Given the description of an element on the screen output the (x, y) to click on. 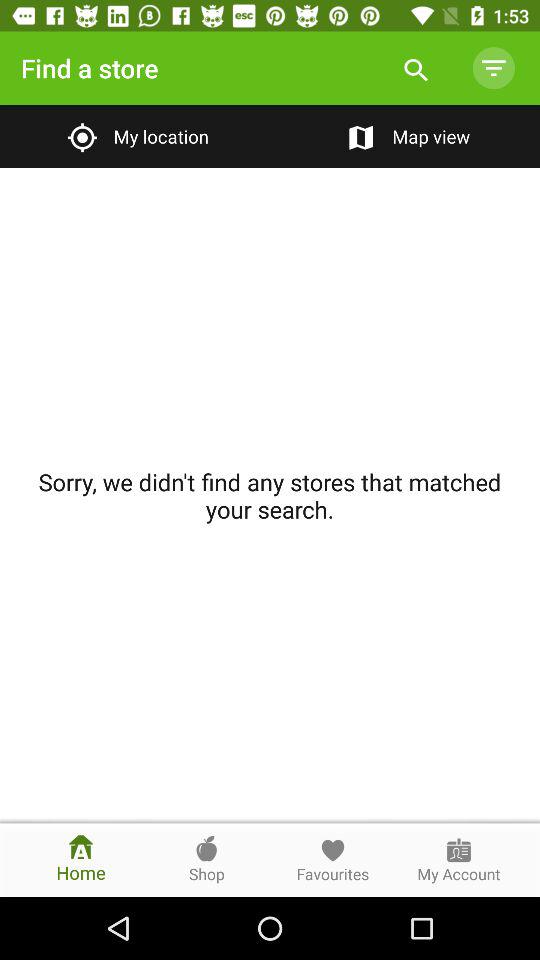
launch the item to the right of the my location item (404, 136)
